Given the description of an element on the screen output the (x, y) to click on. 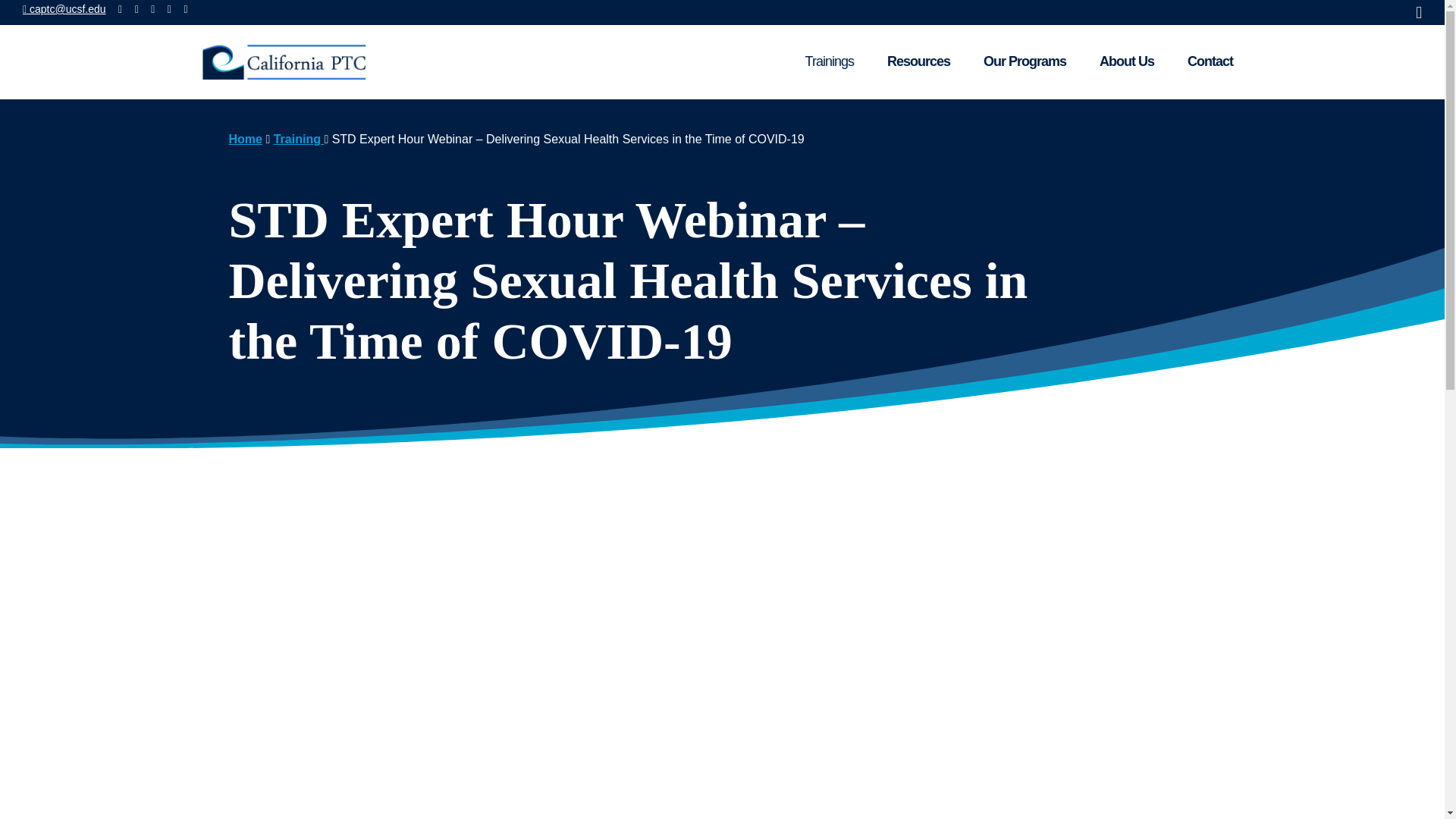
Contact (1201, 61)
Trainings (821, 61)
About Us (1118, 61)
Resources (910, 61)
Home (245, 138)
Training (298, 138)
Our Programs (1015, 61)
